Given the description of an element on the screen output the (x, y) to click on. 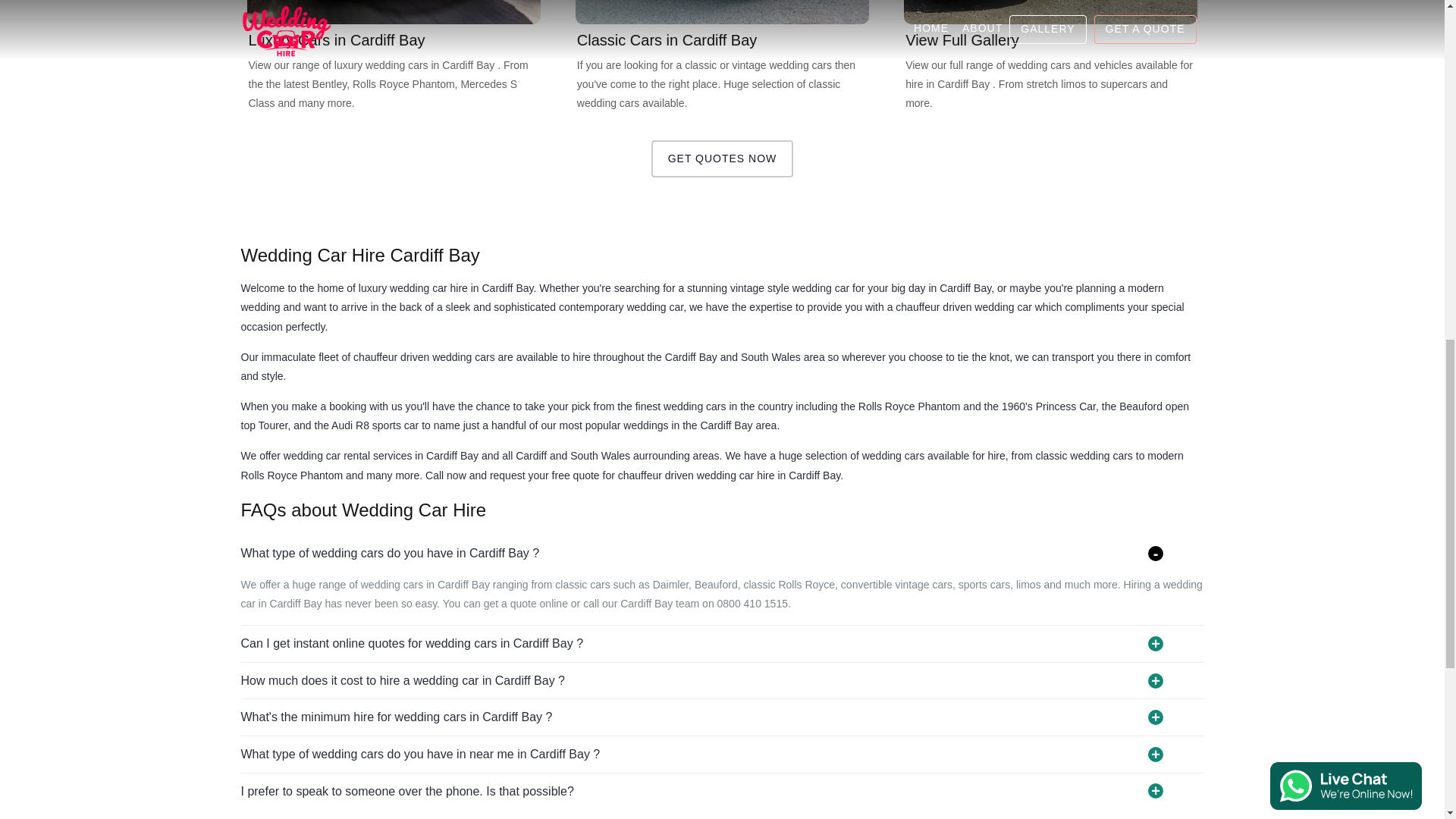
Modern Wedding Cars (394, 56)
Modern Wedding Cars (393, 12)
GET QUOTES NOW (721, 158)
